Given the description of an element on the screen output the (x, y) to click on. 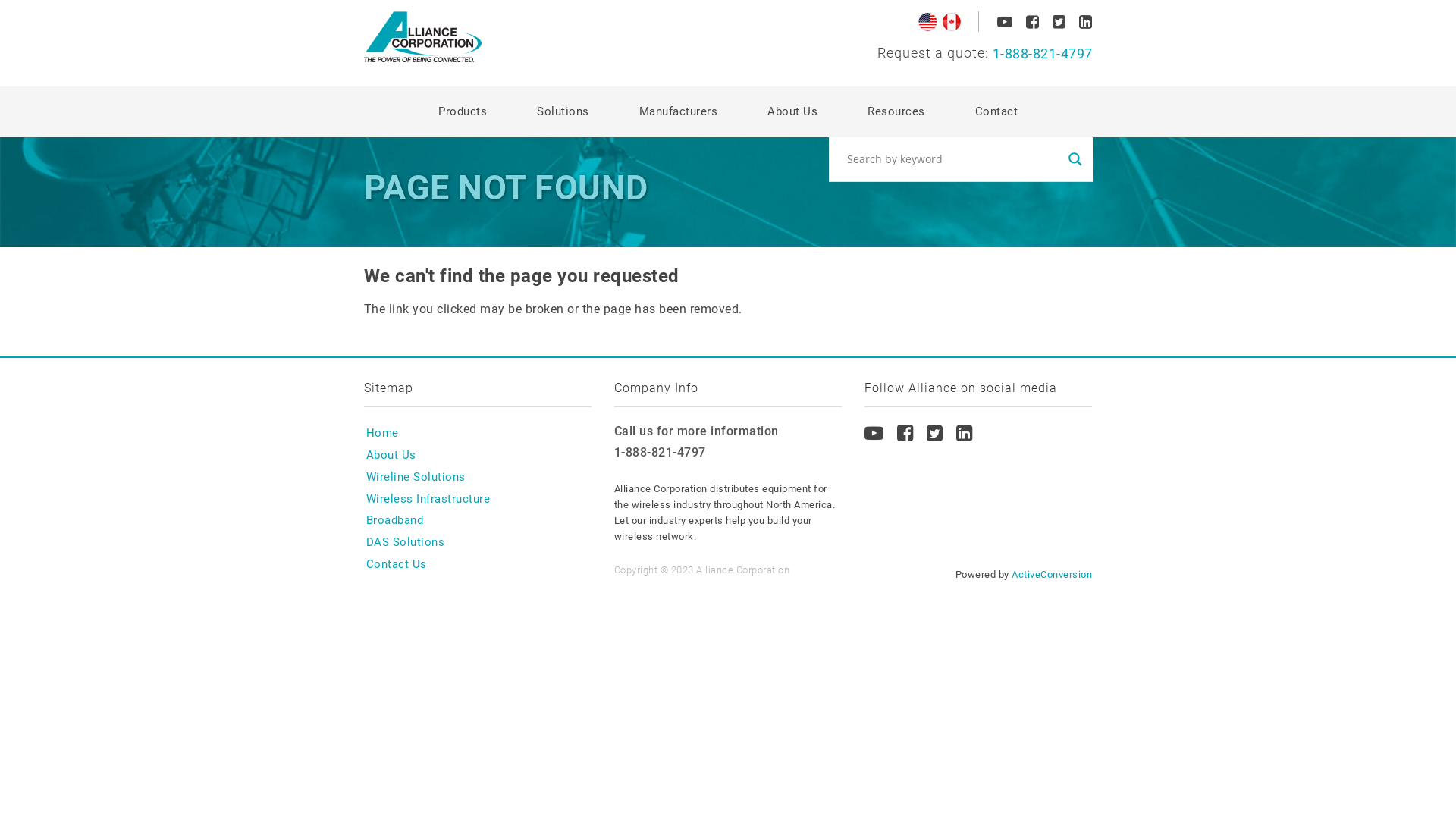
Manufacturers Element type: text (677, 111)
Solutions Element type: text (562, 111)
Start search Element type: text (846, 169)
Products Element type: text (462, 111)
Contact Element type: text (996, 111)
Resources Element type: text (895, 111)
ActiveConversion Element type: text (1051, 574)
Wireless Infrastructure Element type: text (427, 499)
About Us Element type: text (792, 111)
DAS Solutions Element type: text (404, 542)
Wireline Solutions Element type: text (414, 477)
Contact Us Element type: text (395, 564)
Home Element type: text (381, 433)
Broadband Element type: text (394, 520)
1-888-821-4797 Element type: text (727, 452)
About Us Element type: text (390, 455)
1-888-821-4797 Element type: text (984, 54)
